Given the description of an element on the screen output the (x, y) to click on. 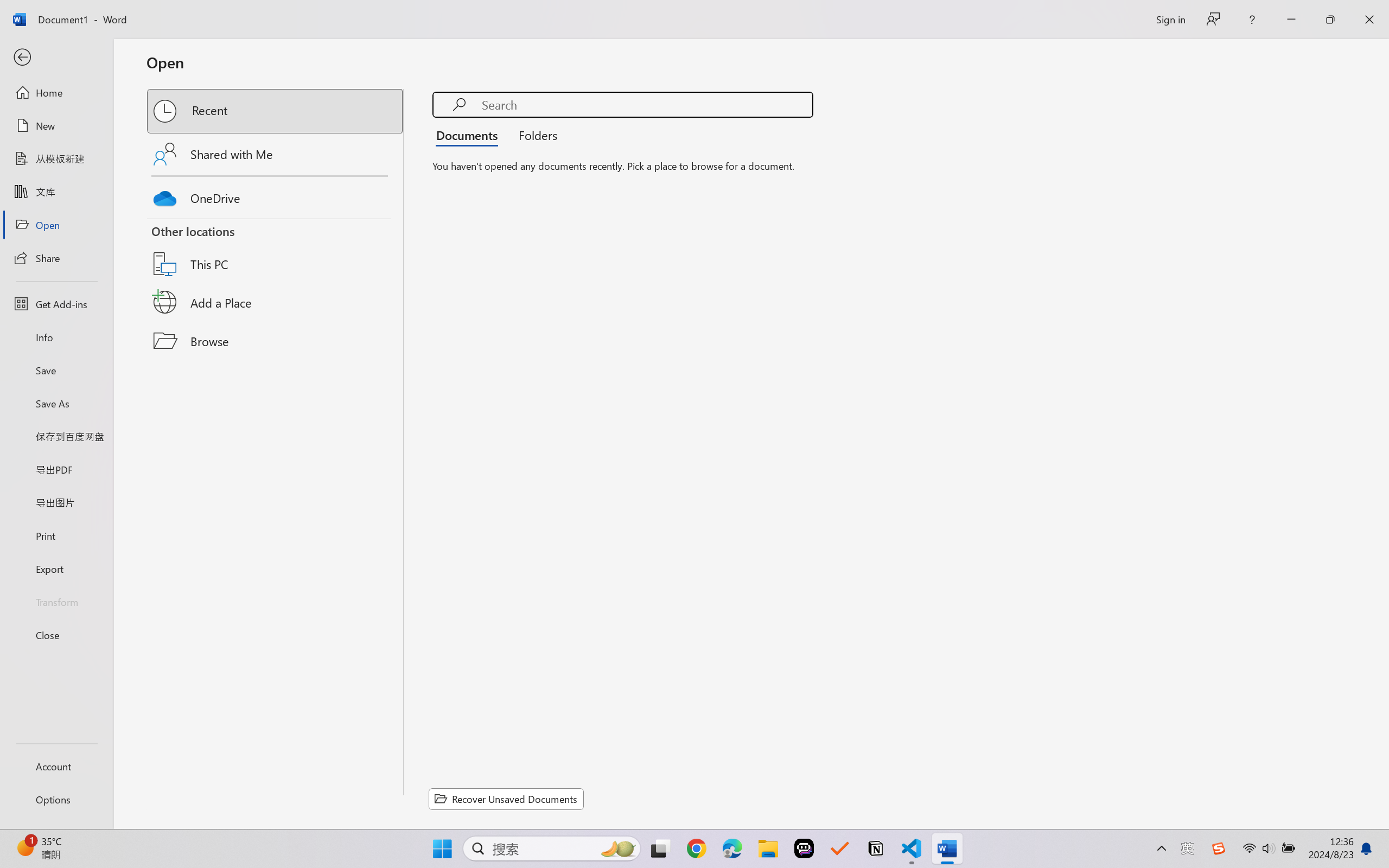
OneDrive (275, 195)
This PC (275, 249)
Save As (56, 403)
Shared with Me (275, 153)
Recover Unsaved Documents (506, 798)
New (56, 125)
Folders (534, 134)
